Given the description of an element on the screen output the (x, y) to click on. 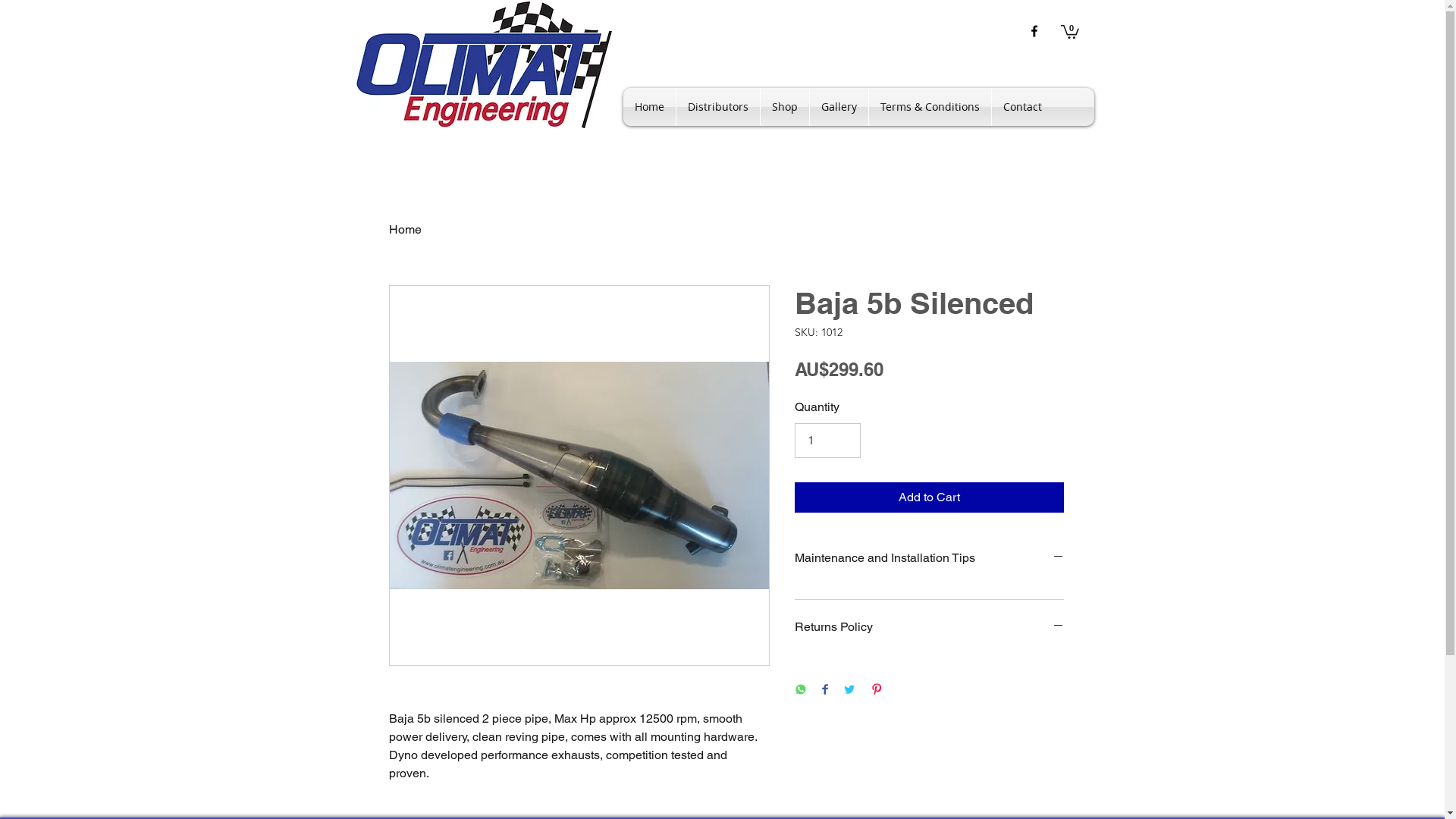
0 Element type: text (1069, 30)
Shop Element type: text (783, 106)
Home Element type: text (649, 106)
Home Element type: text (404, 229)
Gallery Element type: text (838, 106)
Contact Element type: text (1022, 106)
Terms & Conditions Element type: text (930, 106)
Returns Policy Element type: text (928, 627)
Distributors Element type: text (717, 106)
Add to Cart Element type: text (928, 497)
Maintenance and Installation Tips Element type: text (928, 558)
